Given the description of an element on the screen output the (x, y) to click on. 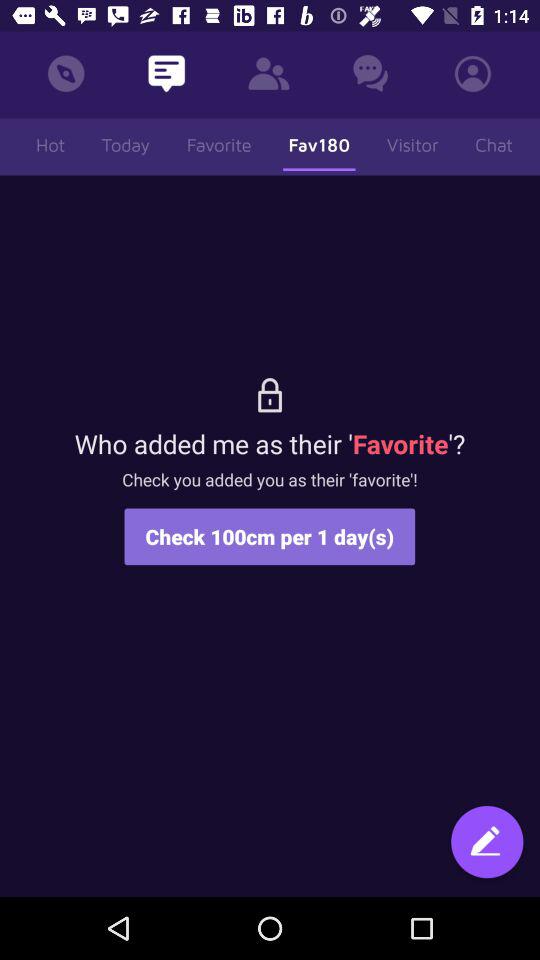
choose check 100cm per (269, 536)
